Given the description of an element on the screen output the (x, y) to click on. 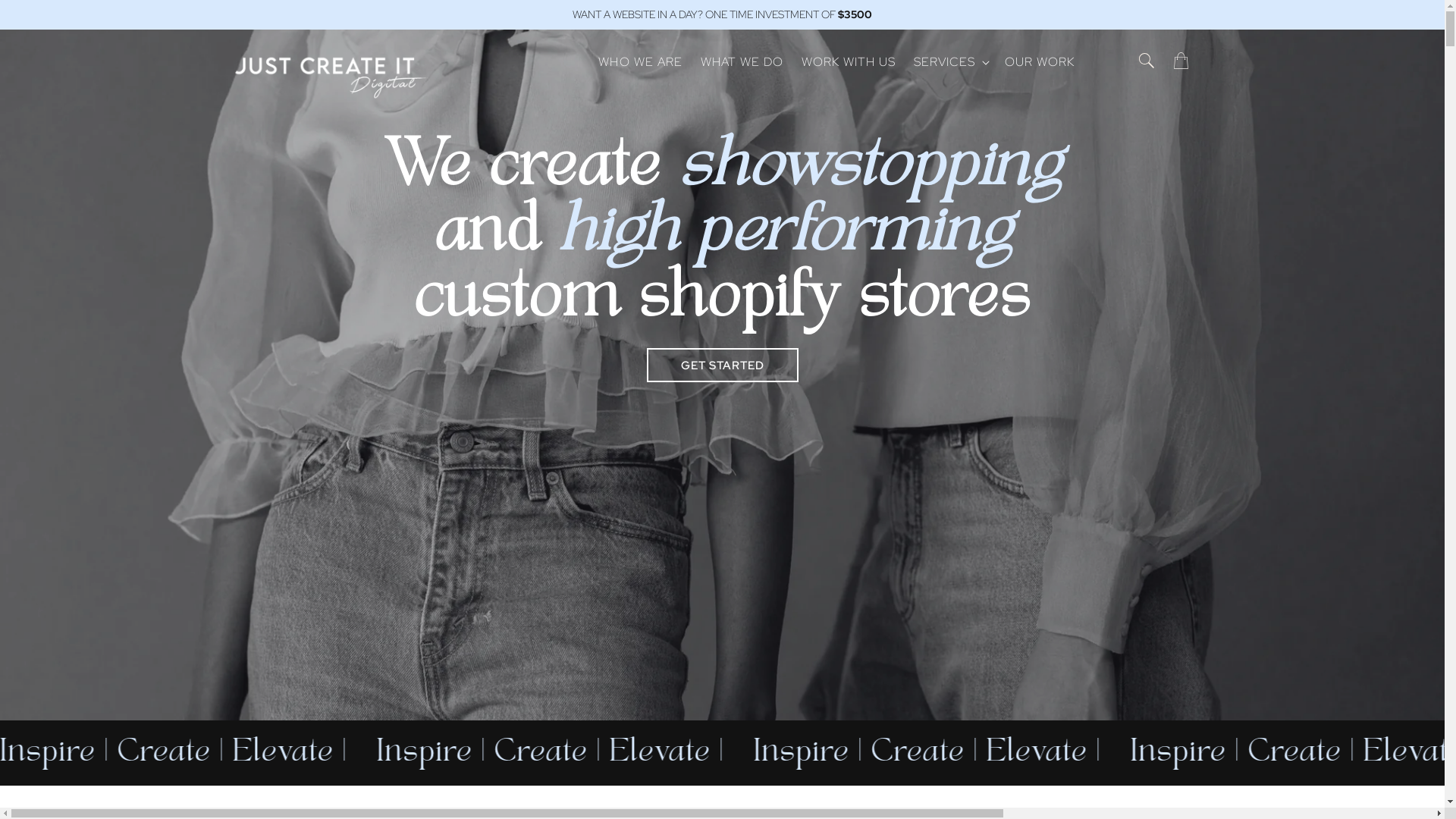
Cart Element type: text (1189, 60)
WHAT WE DO Element type: text (741, 61)
Graphic Design & Branding Element type: hover (987, 104)
GET STARTED Element type: text (721, 365)
 Website done in a DAY! Element type: hover (987, 399)
WANT A WEBSITE IN A DAY? ONE TIME INVESTMENT OF $3500 Element type: text (722, 14)
WHO WE ARE Element type: text (639, 61)
WORK WITH US Element type: text (848, 61)
Shopify Web Design Element type: hover (987, 152)
 Shopify Website Audit Element type: hover (987, 352)
OUR WORK Element type: text (1039, 61)
 Retainer Packages Element type: hover (987, 448)
 Shopify Consult Element type: hover (987, 304)
